Given the description of an element on the screen output the (x, y) to click on. 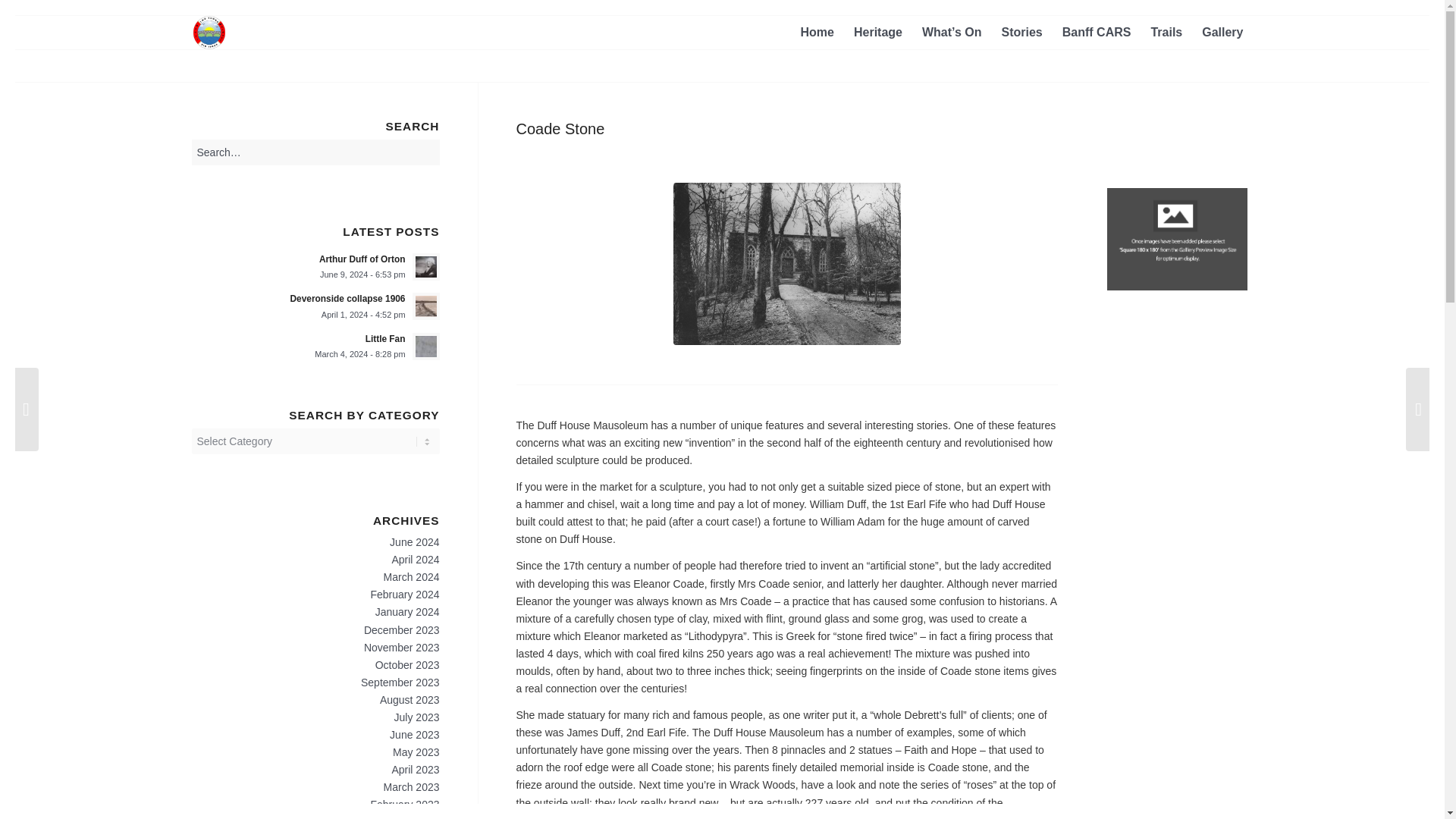
Heritage Information (878, 30)
Trails (314, 265)
Deveronside collapse 1906 (1166, 30)
January 2024 (314, 305)
October 2023 (407, 612)
Heritage (407, 664)
Image Gallery (878, 30)
Home (1222, 30)
November 2023 (816, 30)
